Given the description of an element on the screen output the (x, y) to click on. 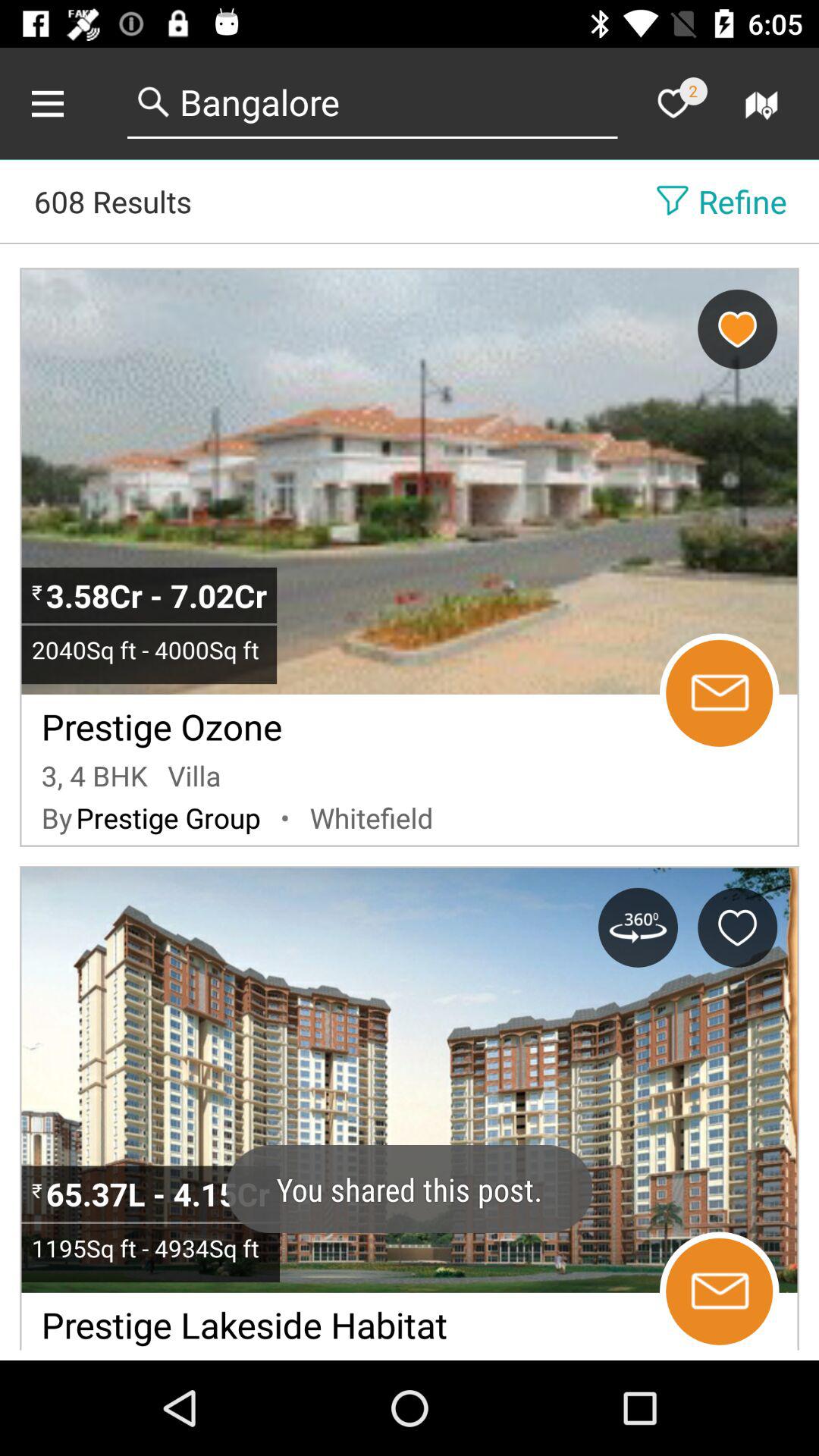
launch the icon to the left of the villa item (94, 775)
